Given the description of an element on the screen output the (x, y) to click on. 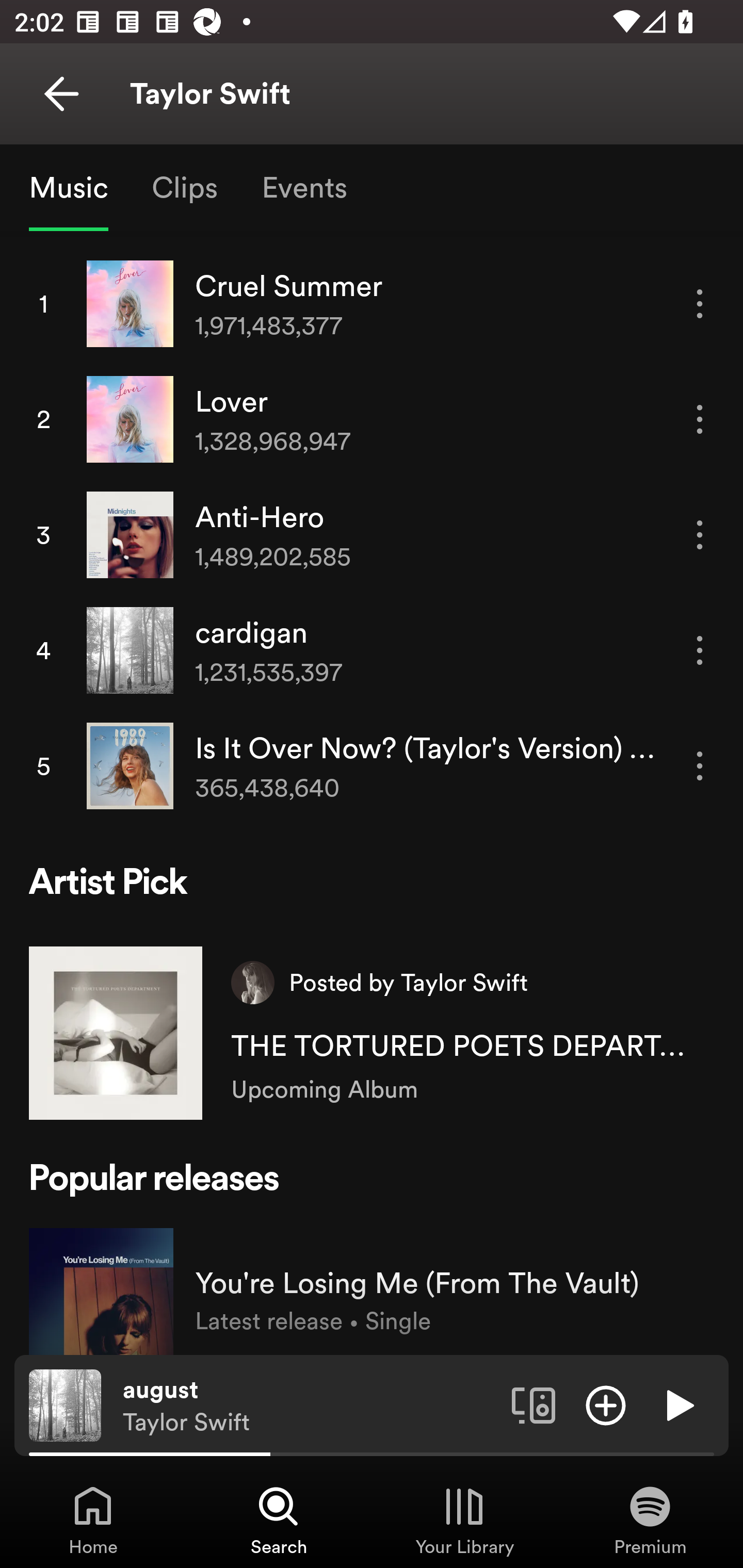
Back (60, 93)
Clips (184, 187)
Events (303, 187)
More options for song Cruel Summer (699, 303)
2 Lover 1,328,968,947 More options for song Lover (371, 419)
More options for song Lover (699, 419)
More options for song Anti-Hero (699, 534)
More options for song cardigan (699, 649)
august Taylor Swift (309, 1405)
The cover art of the currently playing track (64, 1404)
Connect to a device. Opens the devices menu (533, 1404)
Add item (605, 1404)
Play (677, 1404)
Home, Tab 1 of 4 Home Home (92, 1519)
Search, Tab 2 of 4 Search Search (278, 1519)
Your Library, Tab 3 of 4 Your Library Your Library (464, 1519)
Premium, Tab 4 of 4 Premium Premium (650, 1519)
